Given the description of an element on the screen output the (x, y) to click on. 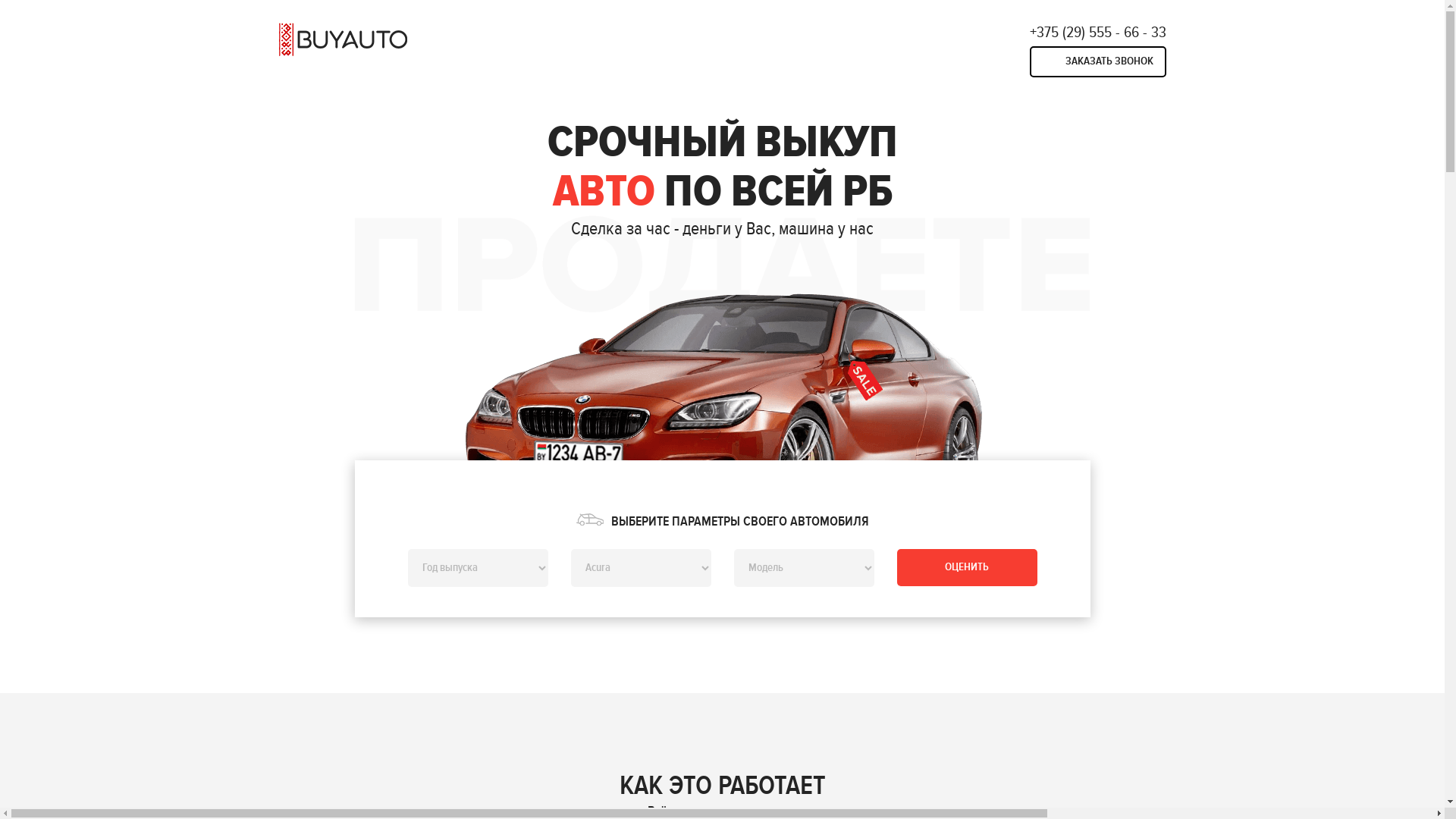
+375 (29) 555 - 66 - 33 Element type: text (1097, 32)
